Given the description of an element on the screen output the (x, y) to click on. 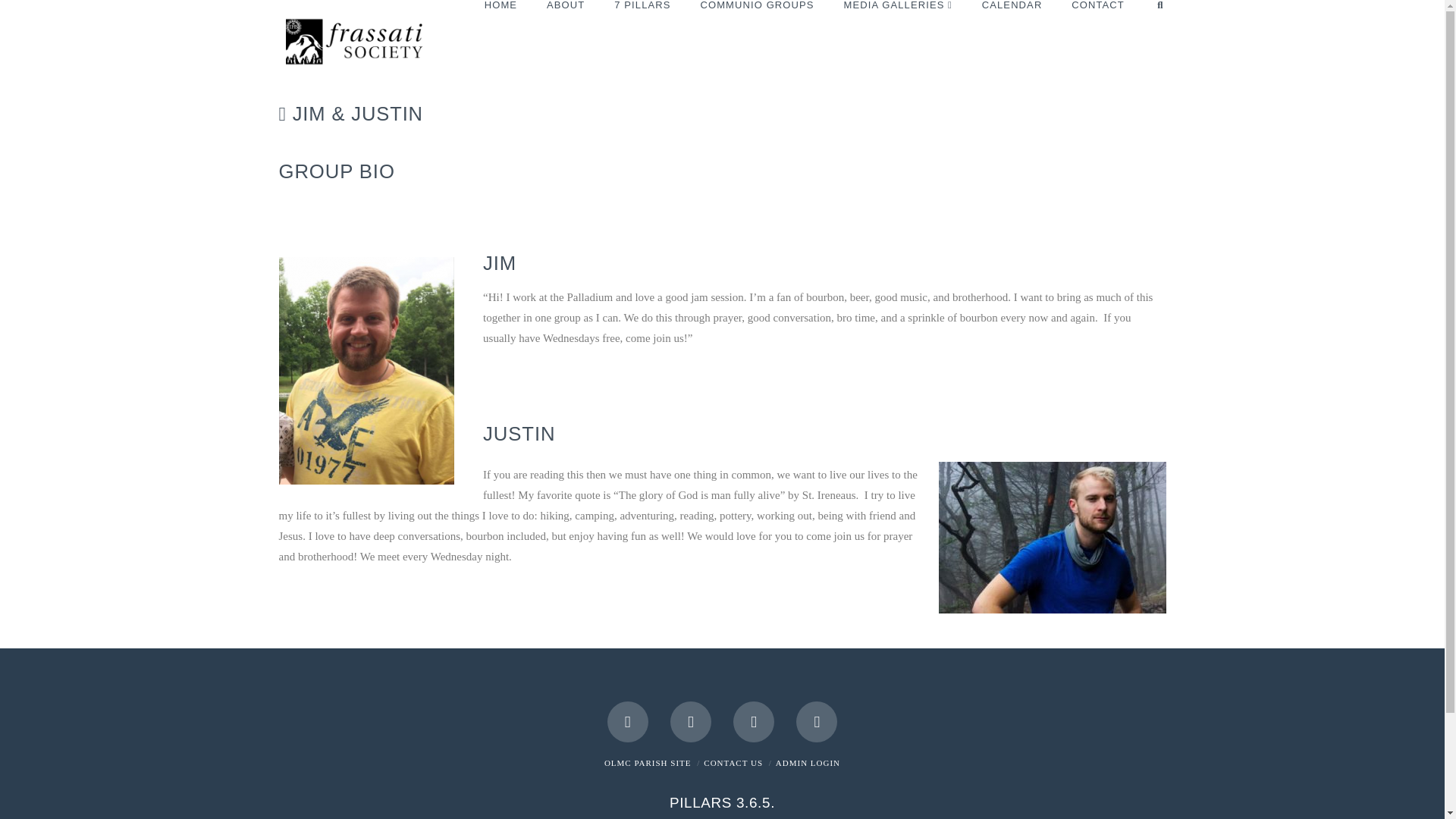
Flickr (816, 721)
OLMC PARISH SITE (647, 762)
COMMUNIO GROUPS (756, 26)
ABOUT (564, 26)
PILLARS 3.6.5. (721, 802)
ADMIN LOGIN (808, 762)
CALENDAR (1011, 26)
MEDIA GALLERIES (897, 26)
Instagram (753, 721)
CONTACT (1097, 26)
